Given the description of an element on the screen output the (x, y) to click on. 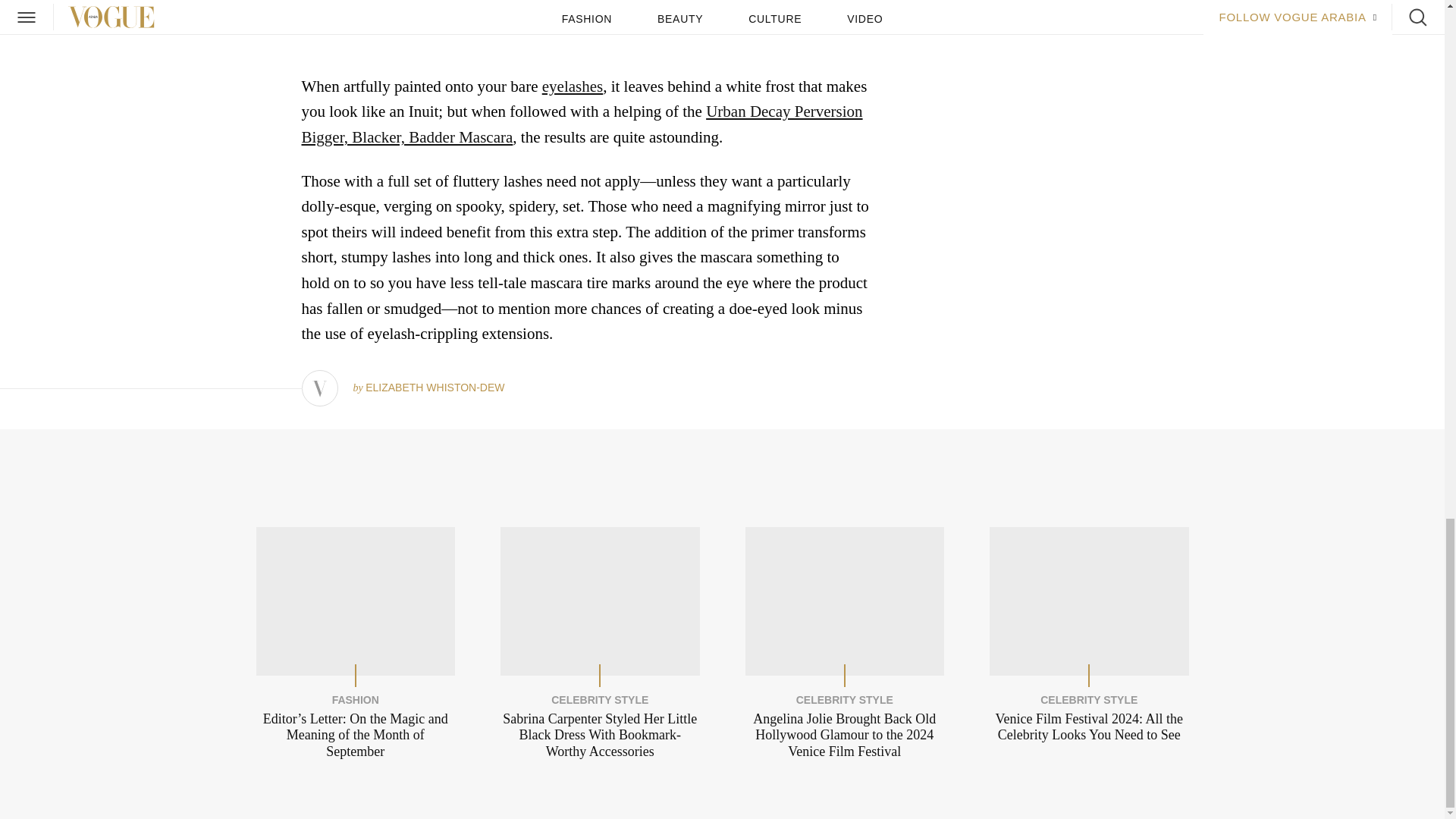
CELEBRITY STYLE (1089, 699)
CELEBRITY STYLE (599, 699)
FASHION (354, 699)
Posts by Elizabeth Whiston-Dew (434, 387)
CELEBRITY STYLE (844, 699)
Urban Decay Perversion Bigger, Blacker, Badder Mascara (582, 125)
ELIZABETH WHISTON-DEW (434, 387)
